Given the description of an element on the screen output the (x, y) to click on. 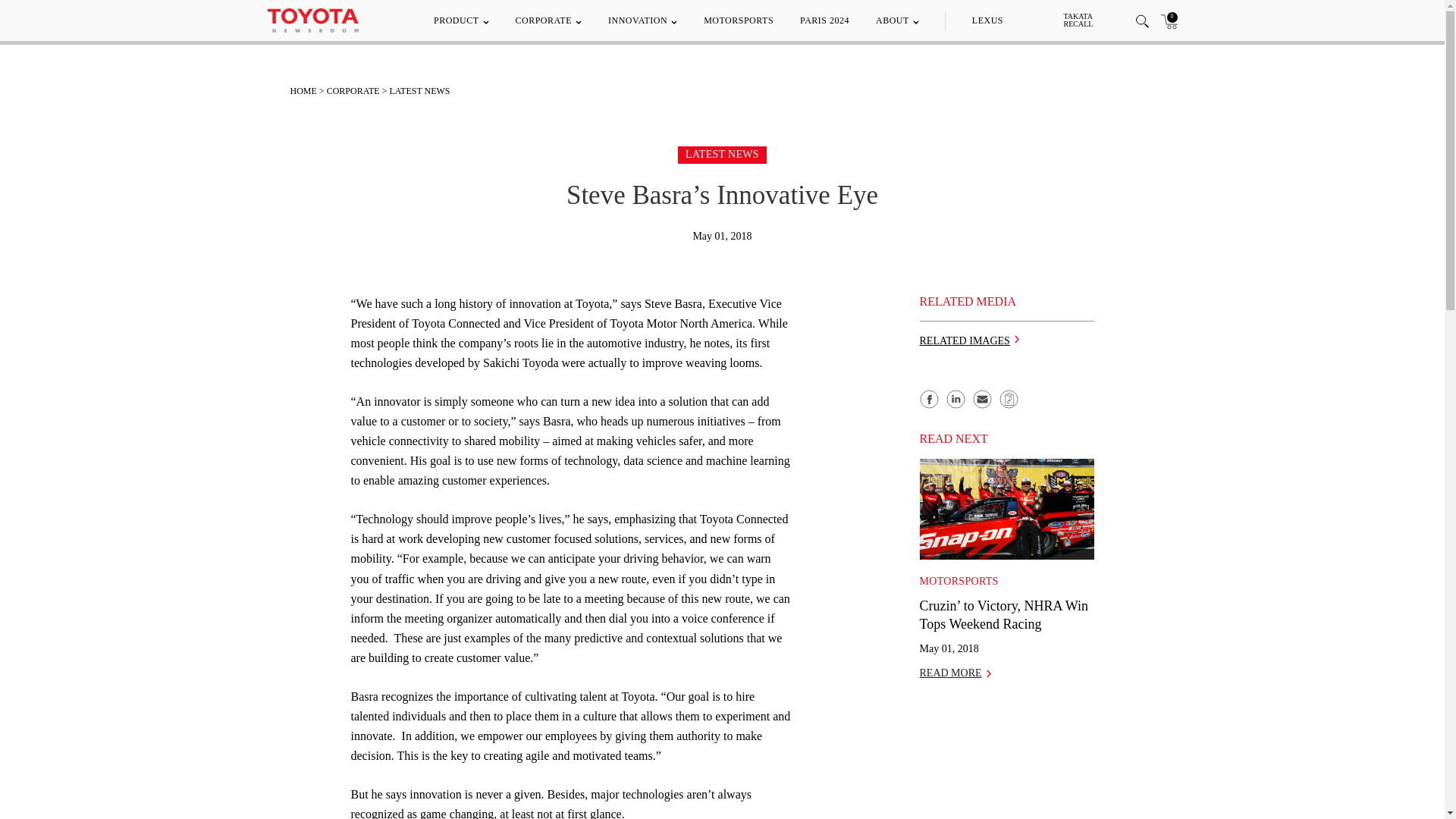
Motorsports (957, 581)
PRODUCT (461, 20)
Latest News (721, 153)
